Given the description of an element on the screen output the (x, y) to click on. 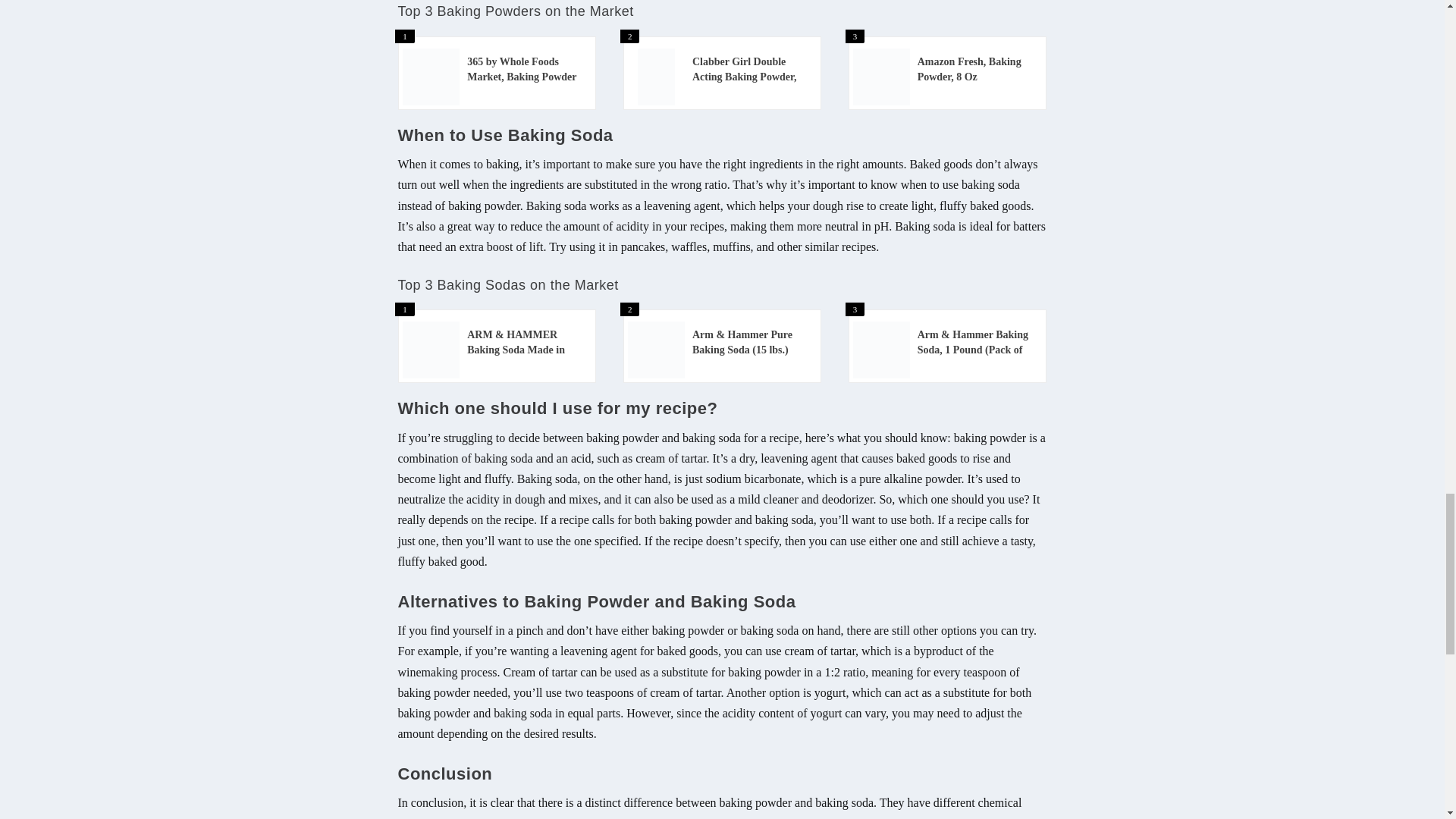
Amazon Fresh, Baking Powder, 8 Oz (975, 69)
Clabber Girl Double Acting Baking Powder, 22 Ounce (751, 69)
